Given the description of an element on the screen output the (x, y) to click on. 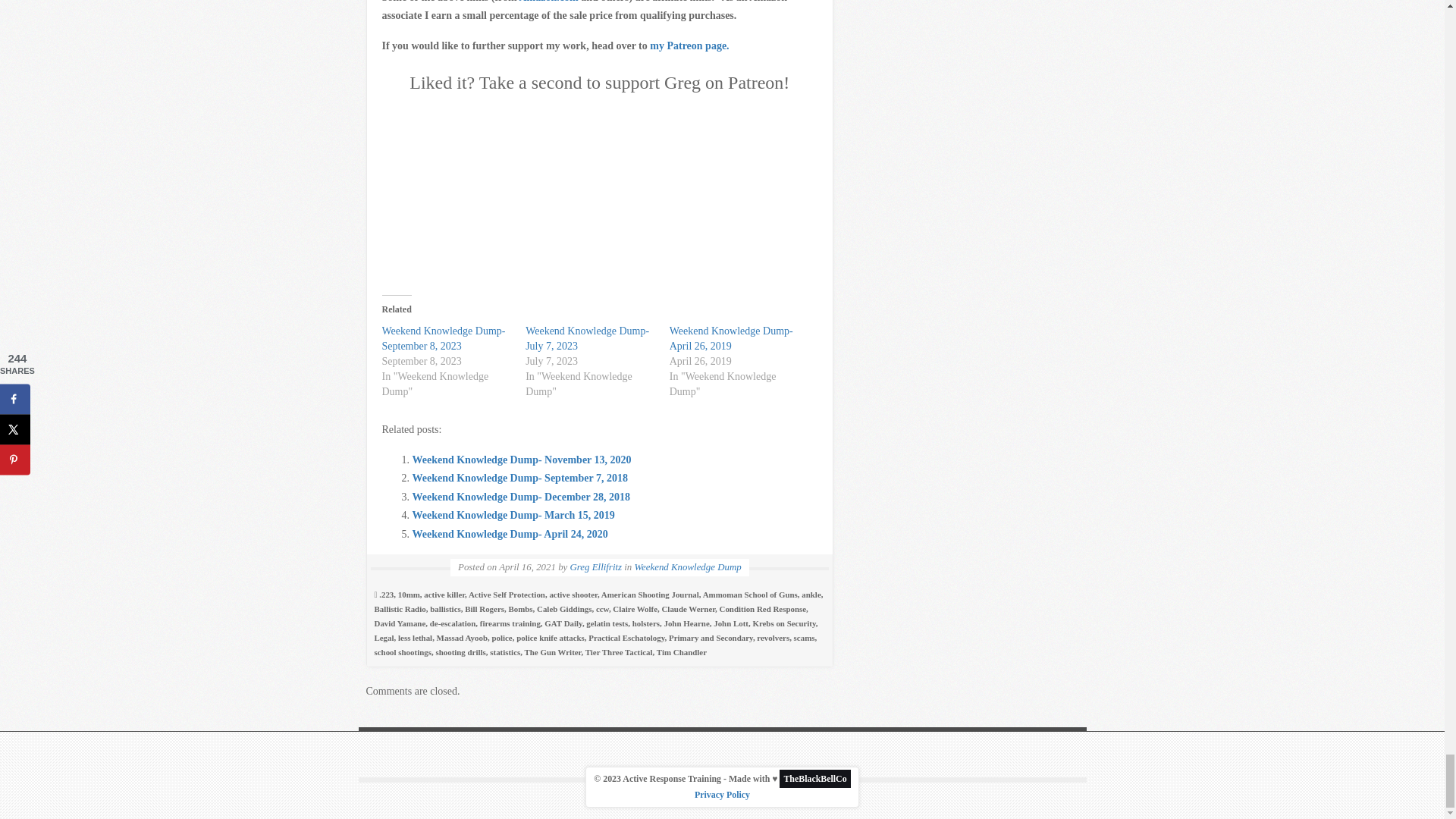
Weekend Knowledge Dump- December 28, 2018 (521, 496)
Weekend Knowledge Dump- July 7, 2023 (587, 338)
Weekend Knowledge Dump- April 26, 2019 (731, 338)
Weekend Knowledge Dump- March 15, 2019 (513, 514)
Weekend Knowledge Dump- September 7, 2018 (519, 478)
Weekend Knowledge Dump- September 8, 2023 (443, 338)
Weekend Knowledge Dump- April 24, 2020 (510, 533)
View all posts by Greg Ellifritz (596, 566)
Weekend Knowledge Dump- November 13, 2020 (521, 460)
